Given the description of an element on the screen output the (x, y) to click on. 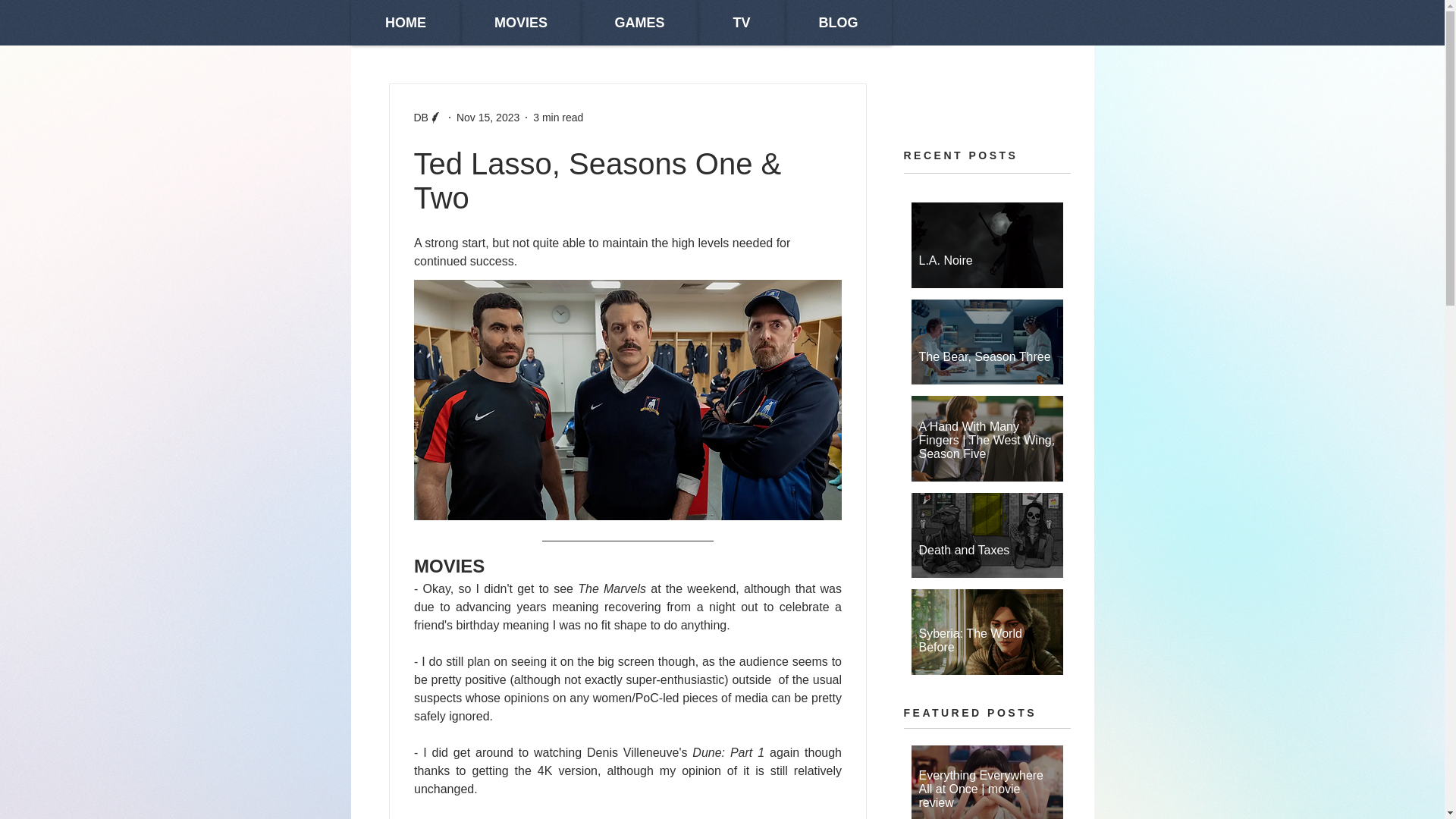
MOVIES (520, 22)
3 min read (557, 116)
BLOG (838, 22)
Death and Taxes (986, 543)
TV (740, 22)
GAMES (638, 22)
L.A. Noire (986, 252)
DB (420, 116)
HOME (405, 22)
Syberia: The World Before (986, 632)
The Bear, Season Three (986, 349)
Nov 15, 2023 (488, 116)
